Given the description of an element on the screen output the (x, y) to click on. 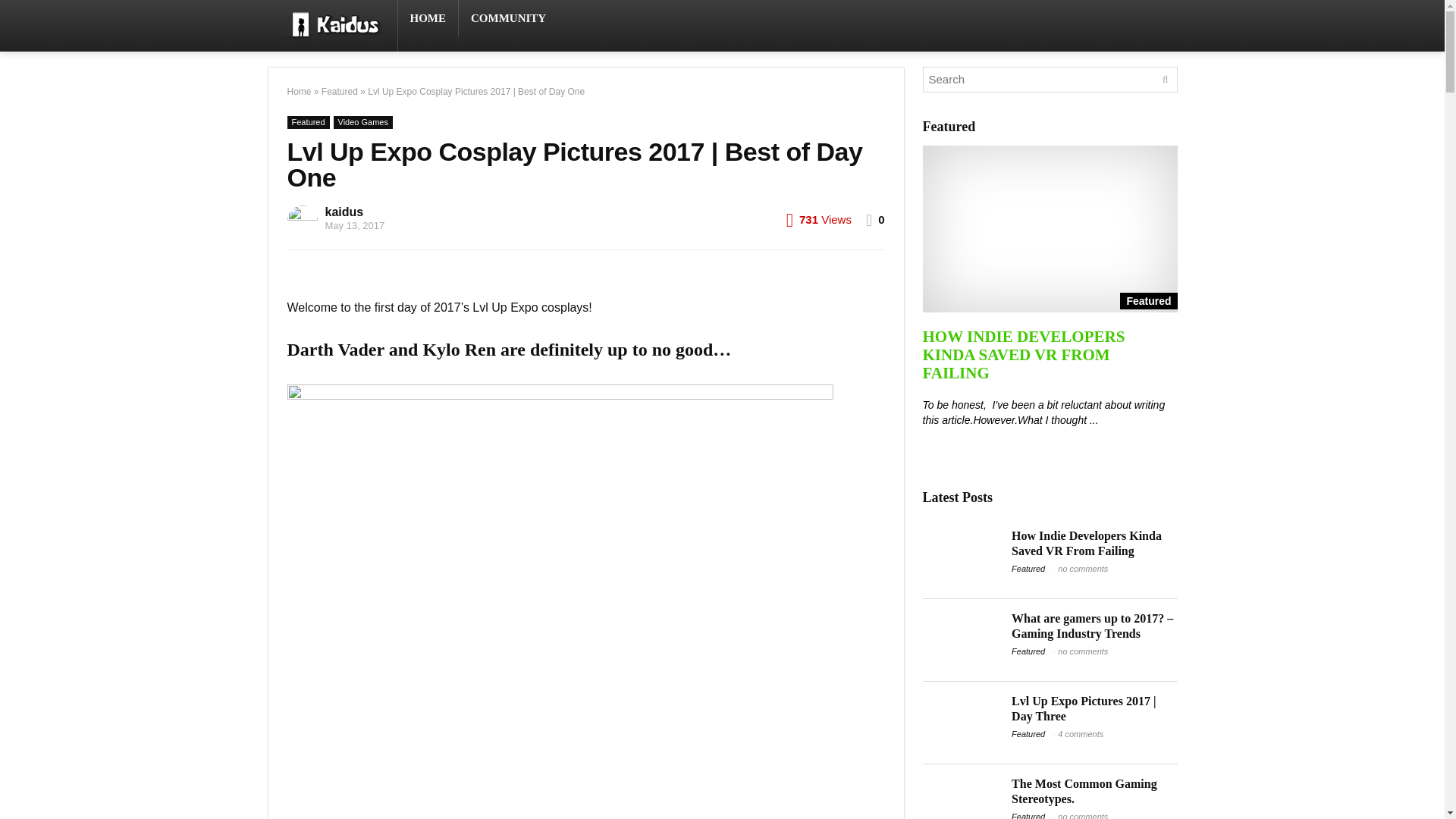
Featured (307, 122)
Featured (1048, 228)
Home (298, 91)
HOME (427, 18)
HOW INDIE DEVELOPERS KINDA SAVED VR FROM FAILING (1022, 354)
View all posts in Video Games (363, 122)
COMMUNITY (507, 18)
View all posts in Featured (307, 122)
Featured (339, 91)
kaidus (343, 211)
Video Games (363, 122)
